Given the description of an element on the screen output the (x, y) to click on. 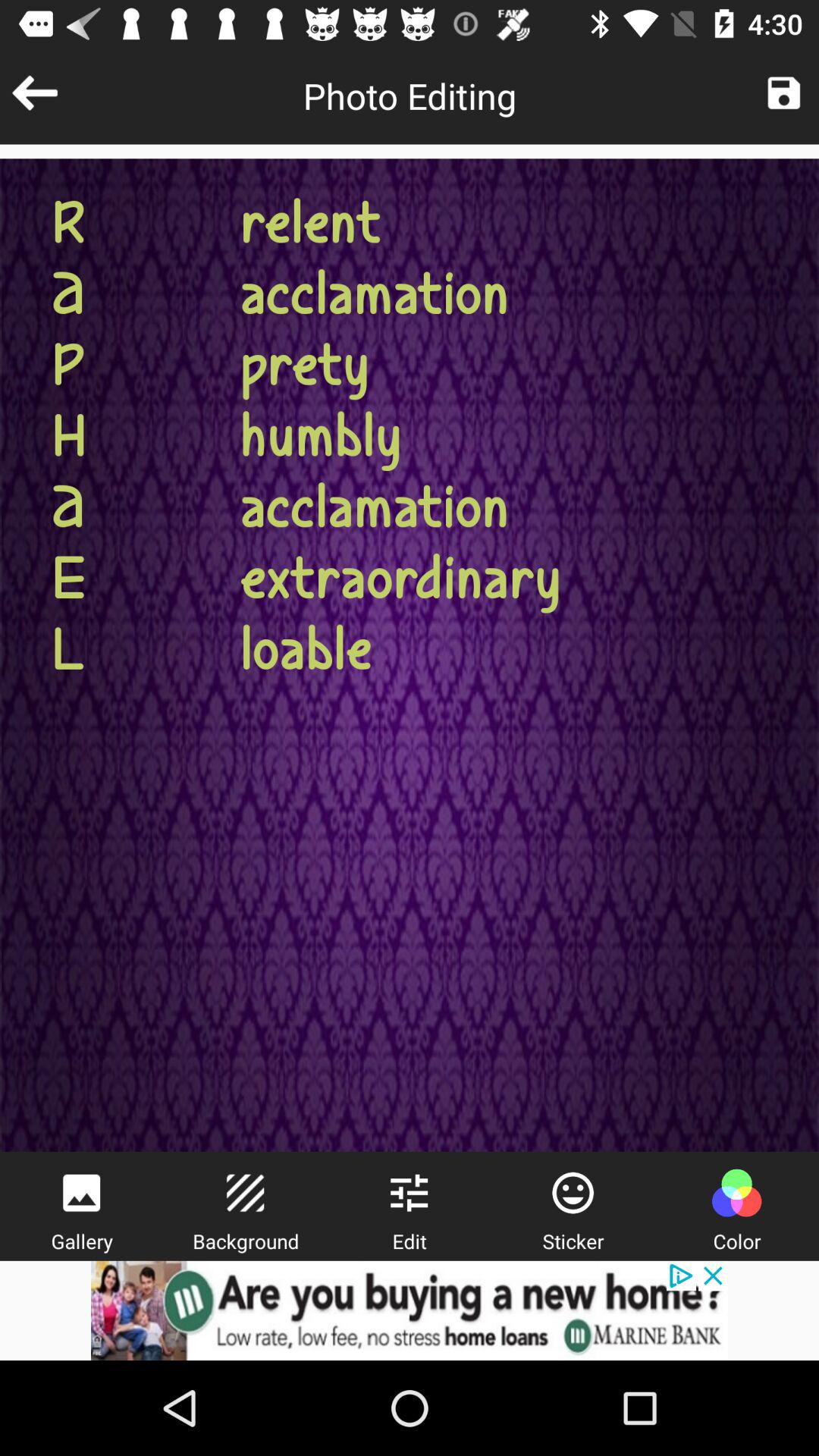
hit back button (34, 92)
